Given the description of an element on the screen output the (x, y) to click on. 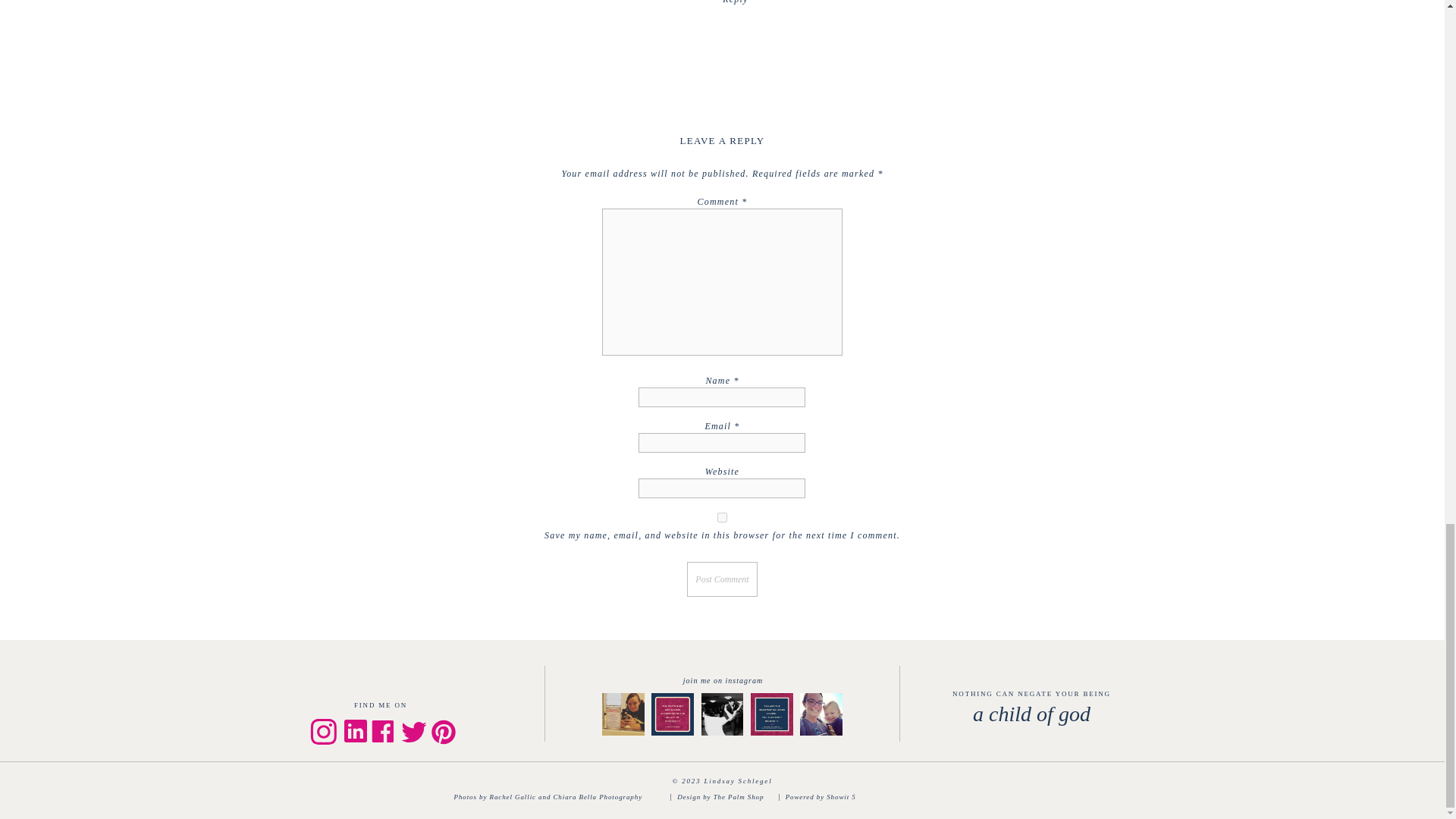
Powered by Showit 5 (827, 797)
yes (721, 517)
Design by The Palm Shop (727, 797)
Facebook Copy-color Created with Sketch. (381, 731)
Post Comment (722, 579)
Photos by Rachel Gallic and Chiara Bella Photography (558, 797)
Instagram-color Created with Sketch. (322, 731)
NOTHING CAN NEGATE YOUR BEING (1032, 696)
Reply (735, 2)
Post Comment (722, 579)
